Given the description of an element on the screen output the (x, y) to click on. 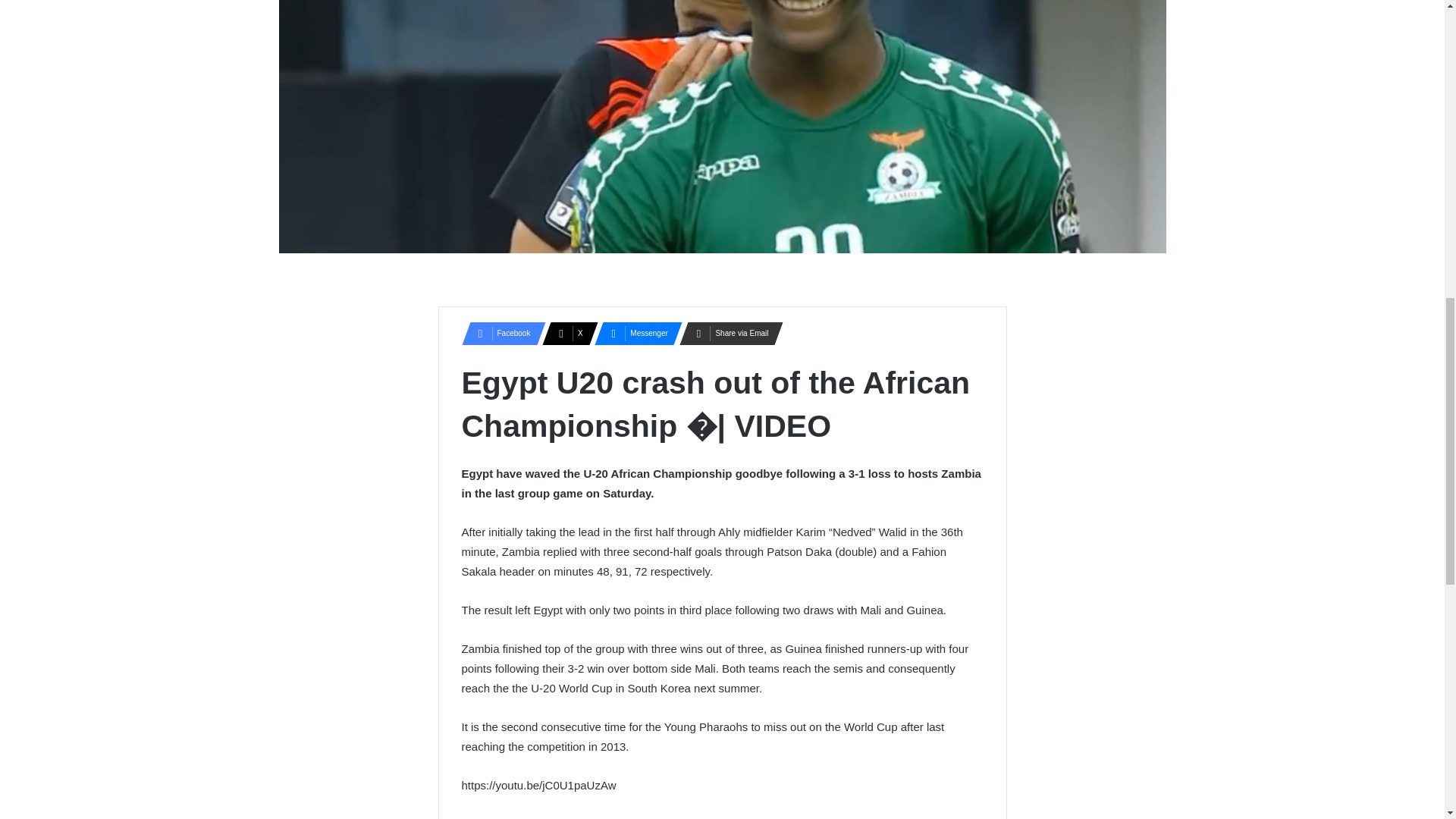
X (565, 333)
Facebook (498, 333)
Share via Email (726, 333)
Messenger (633, 333)
